Given the description of an element on the screen output the (x, y) to click on. 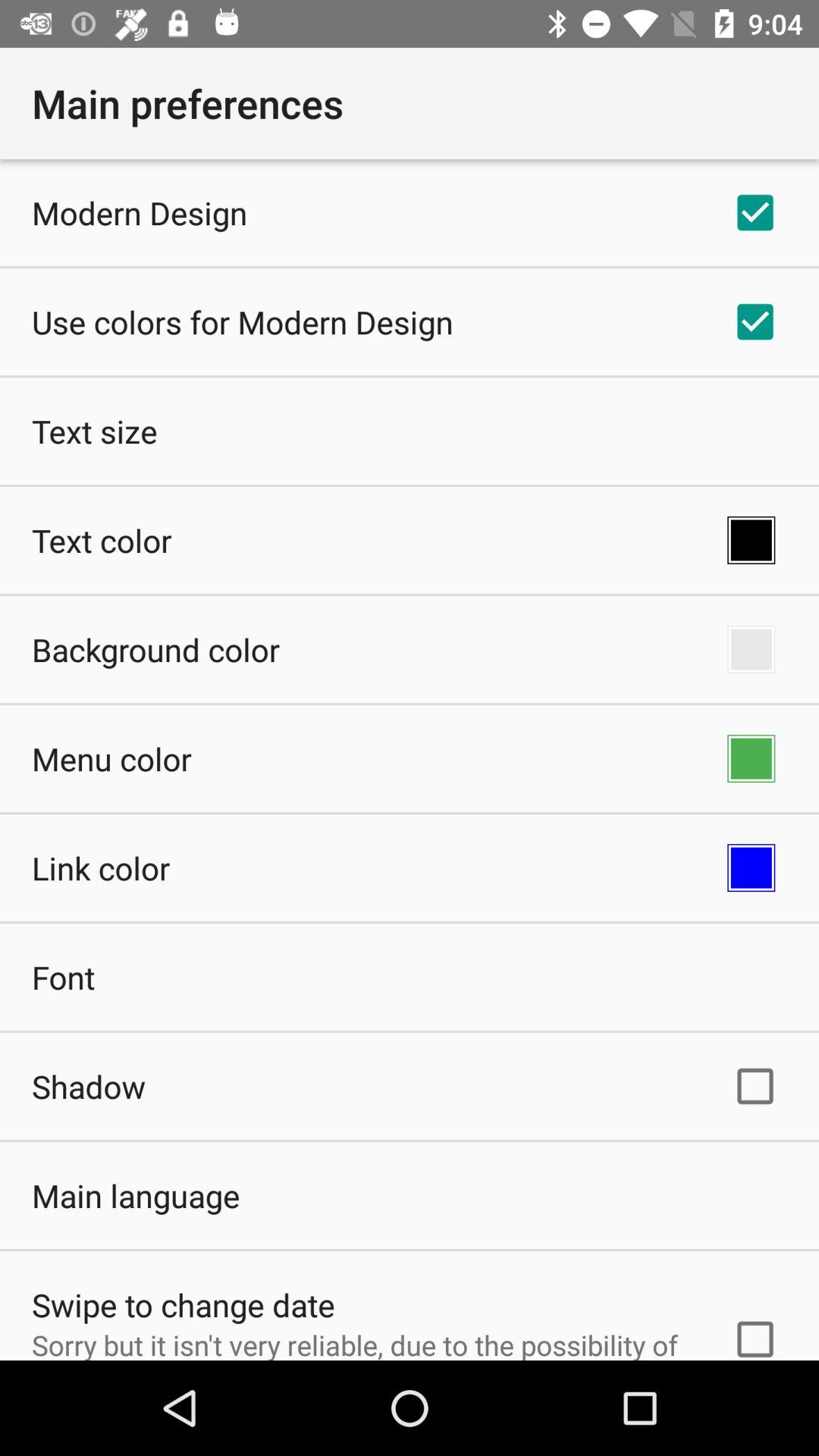
choose item above the font icon (100, 867)
